Given the description of an element on the screen output the (x, y) to click on. 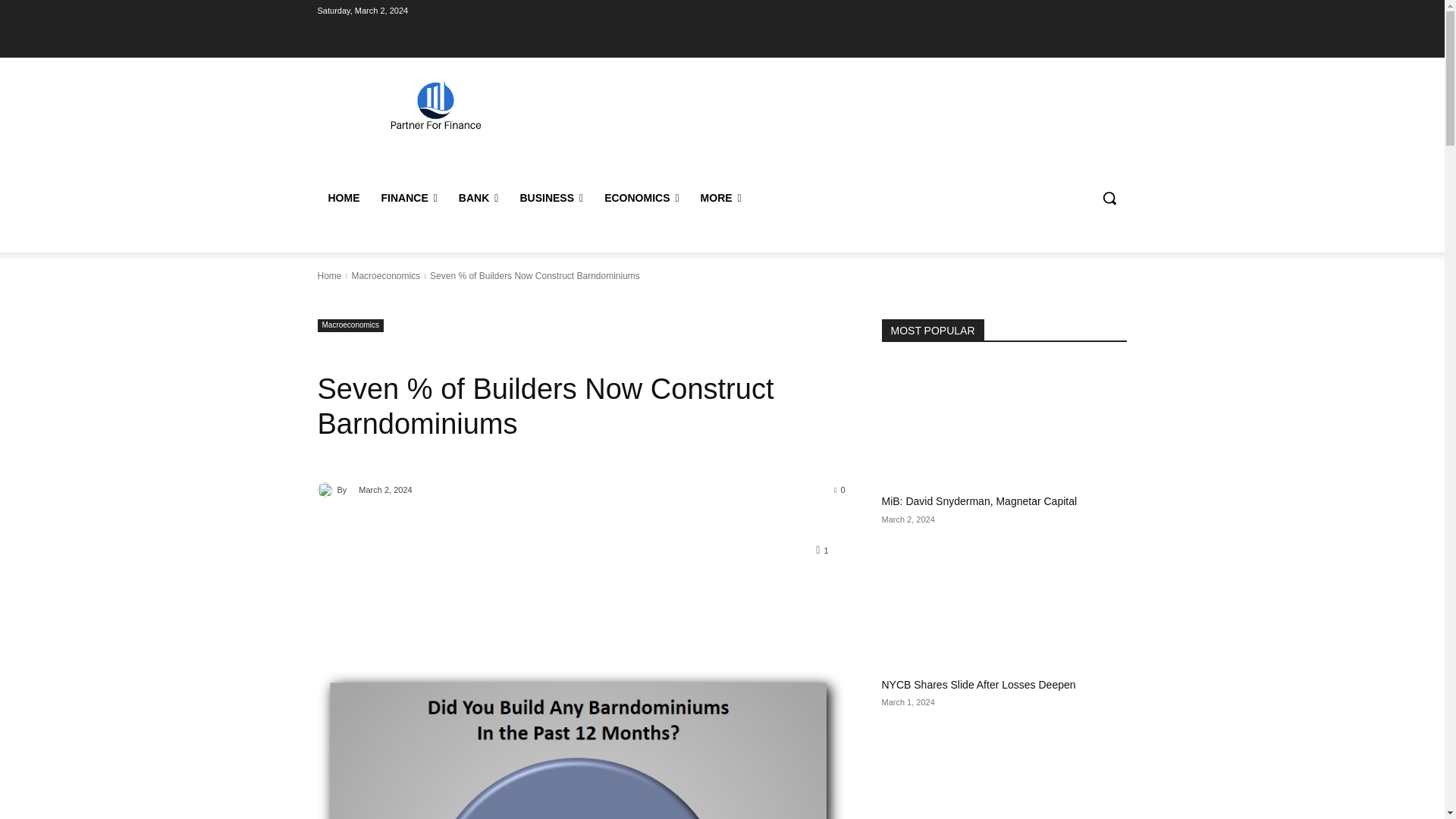
View all posts in Macroeconomics (385, 276)
HOME (343, 197)
BANK (478, 197)
FINANCE (407, 197)
